Given the description of an element on the screen output the (x, y) to click on. 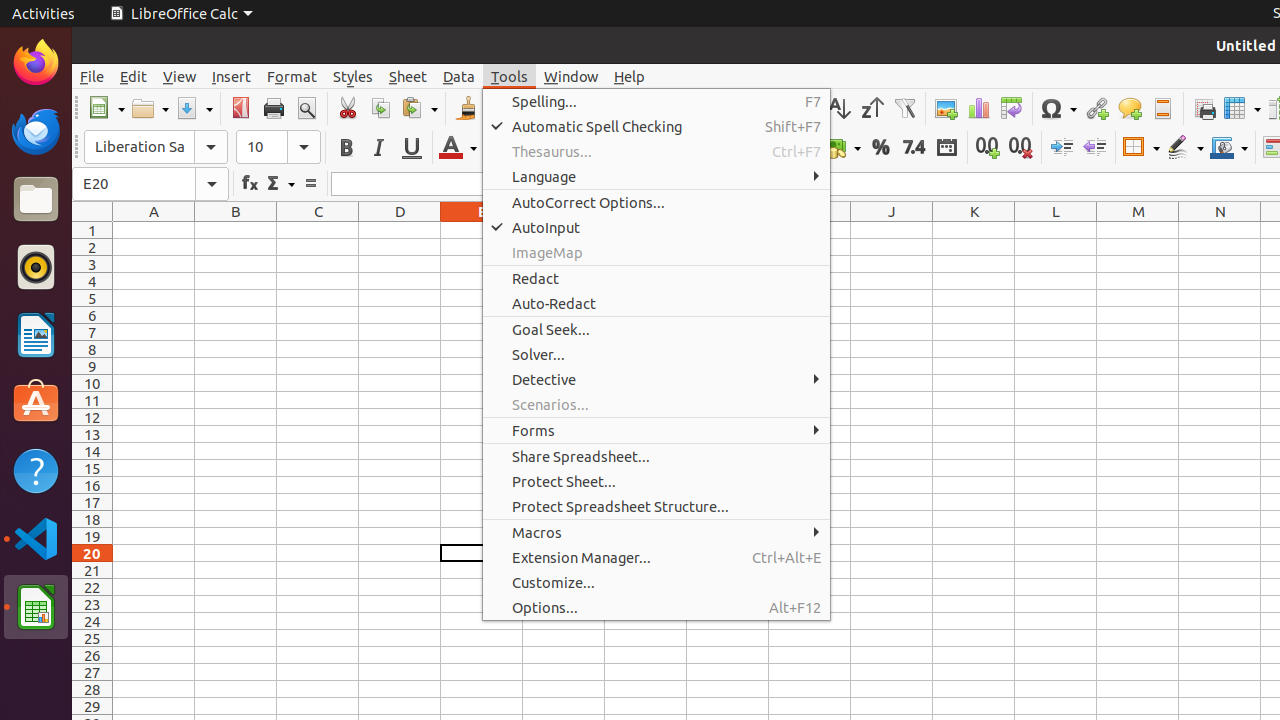
LibreOffice Calc Element type: push-button (36, 607)
Save Element type: push-button (194, 108)
Open Element type: push-button (150, 108)
Redact Element type: menu-item (656, 278)
